Given the description of an element on the screen output the (x, y) to click on. 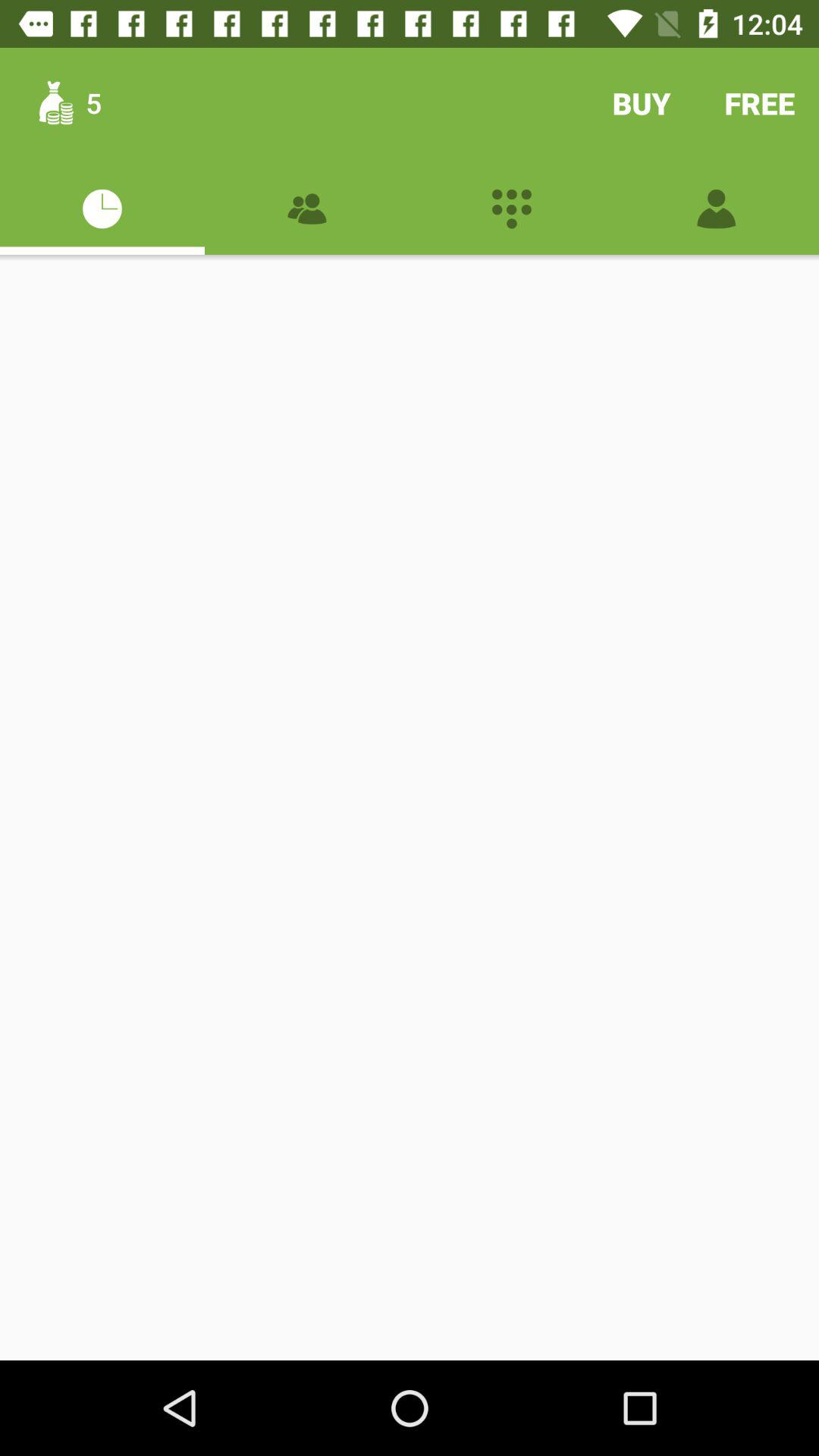
turn on the icon next to free item (641, 103)
